Given the description of an element on the screen output the (x, y) to click on. 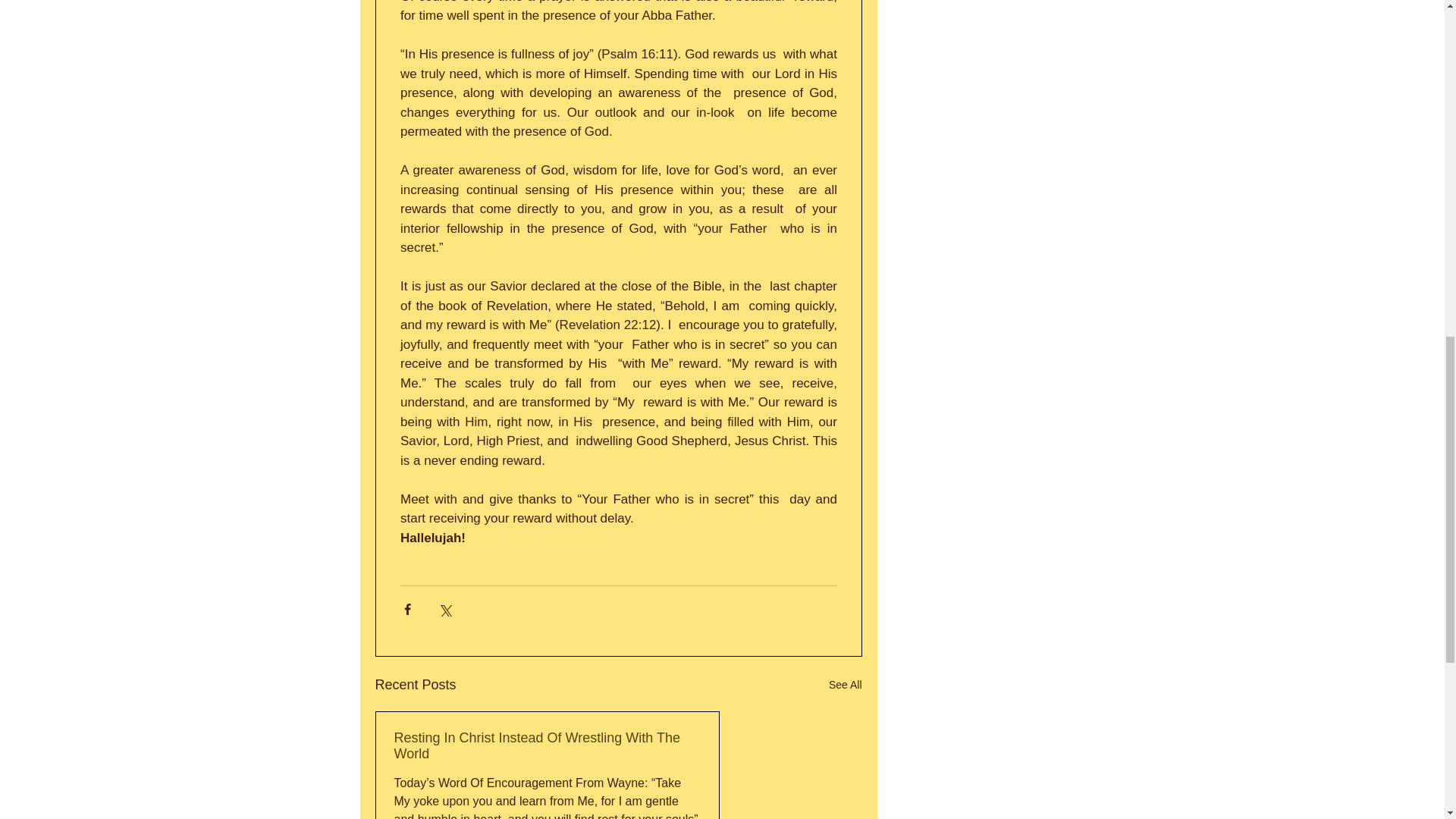
See All (844, 685)
Resting In Christ Instead Of Wrestling With The World (547, 746)
